Given the description of an element on the screen output the (x, y) to click on. 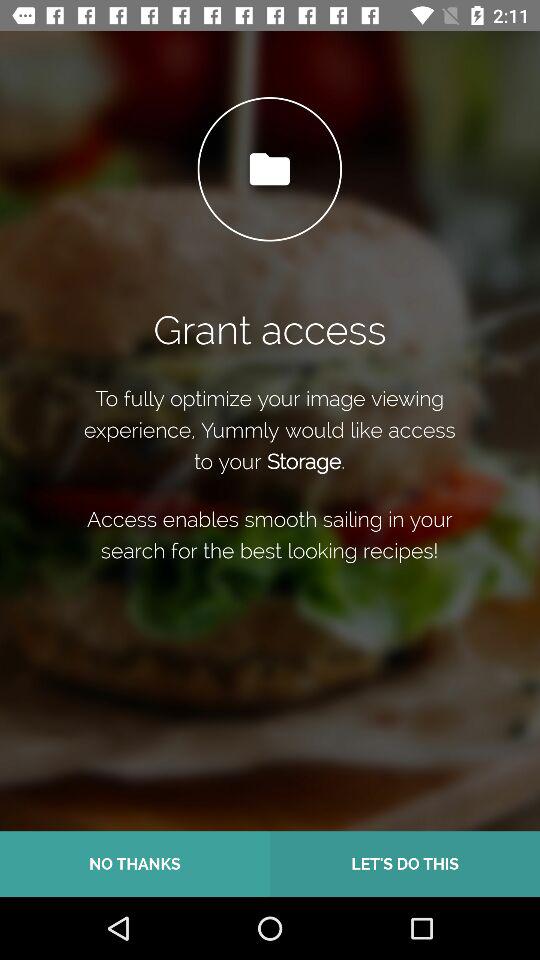
press item to the left of let s do icon (135, 863)
